Given the description of an element on the screen output the (x, y) to click on. 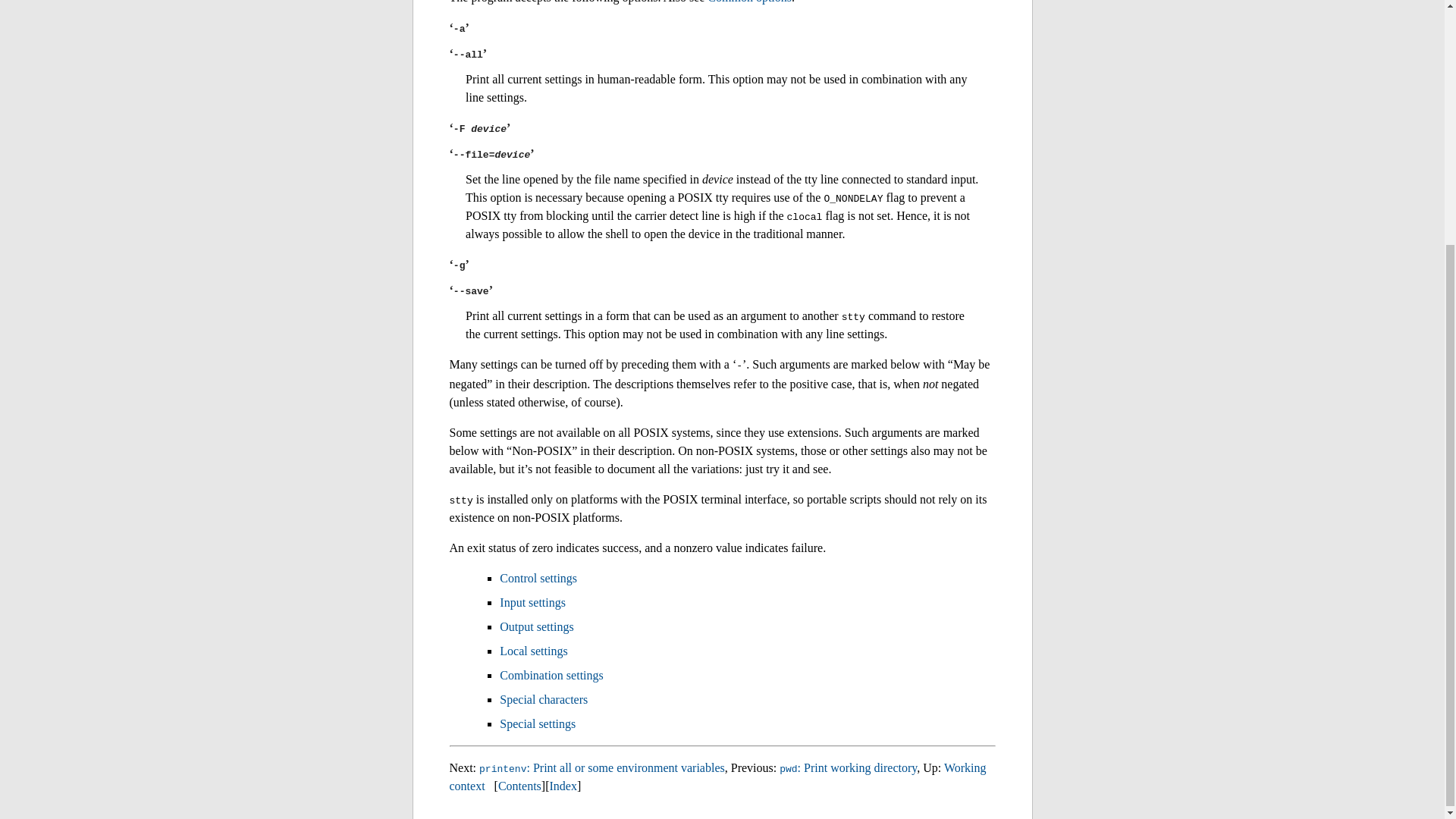
Special characters (543, 698)
Contents (519, 785)
Local settings (533, 650)
Control settings (537, 577)
Special settings (537, 723)
Index (562, 785)
Table of contents (519, 785)
Index (562, 785)
Input settings (532, 602)
Output settings (536, 626)
Combination settings (550, 675)
